Given the description of an element on the screen output the (x, y) to click on. 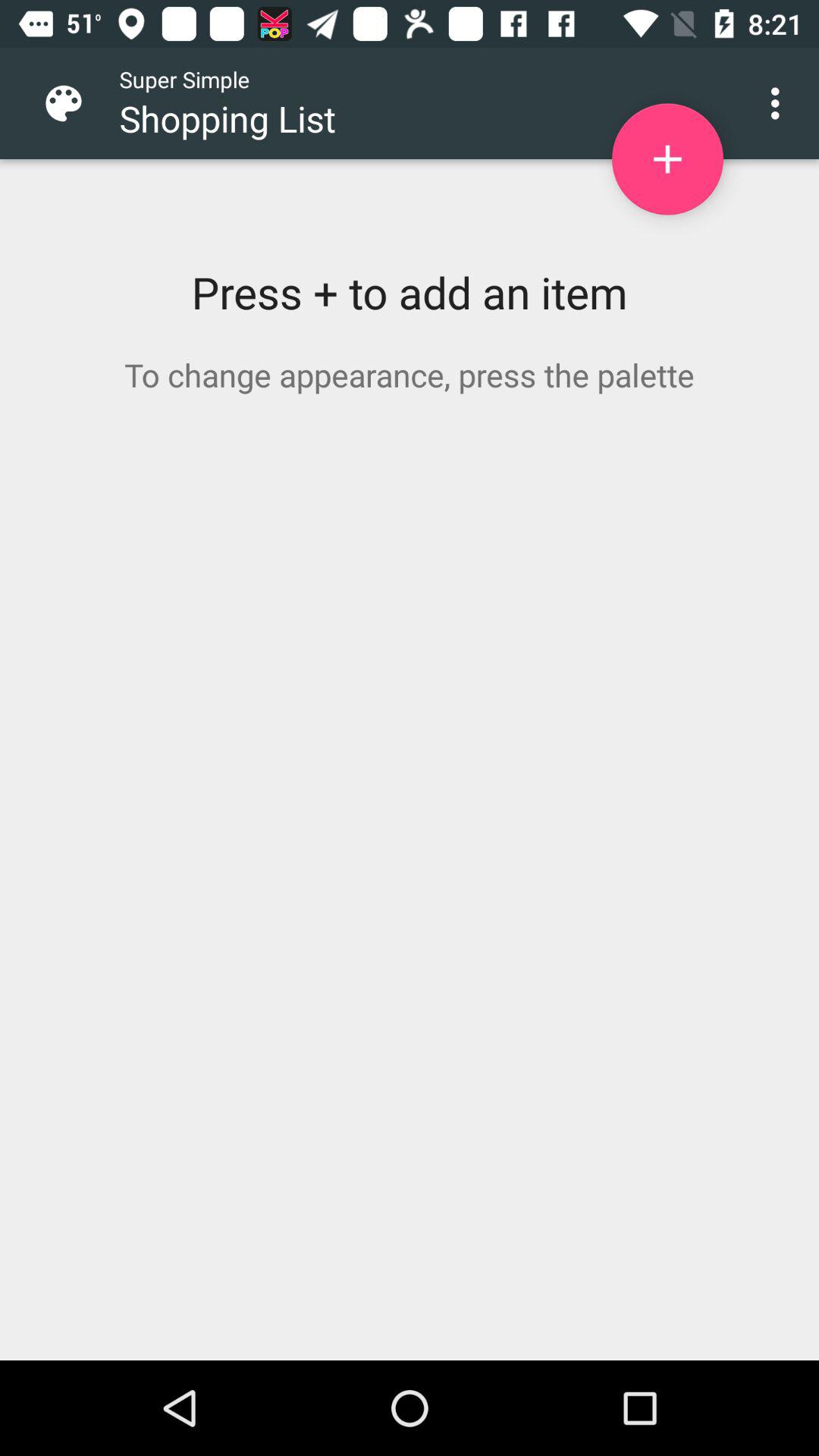
edit list colors (75, 103)
